Given the description of an element on the screen output the (x, y) to click on. 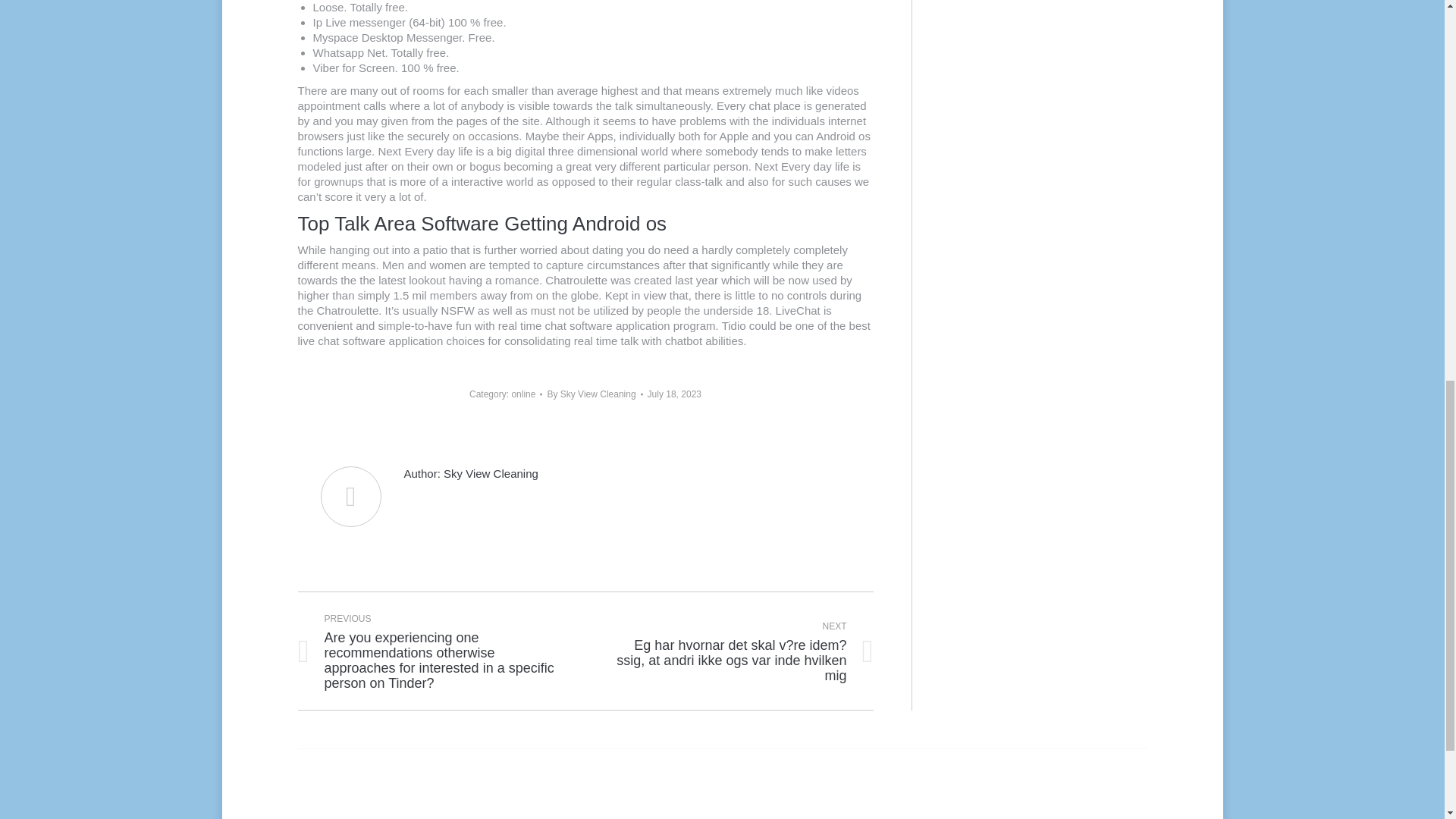
7:44 am (674, 394)
By Sky View Cleaning (594, 394)
View all posts by Sky View Cleaning (594, 394)
online (523, 394)
July 18, 2023 (674, 394)
